Given the description of an element on the screen output the (x, y) to click on. 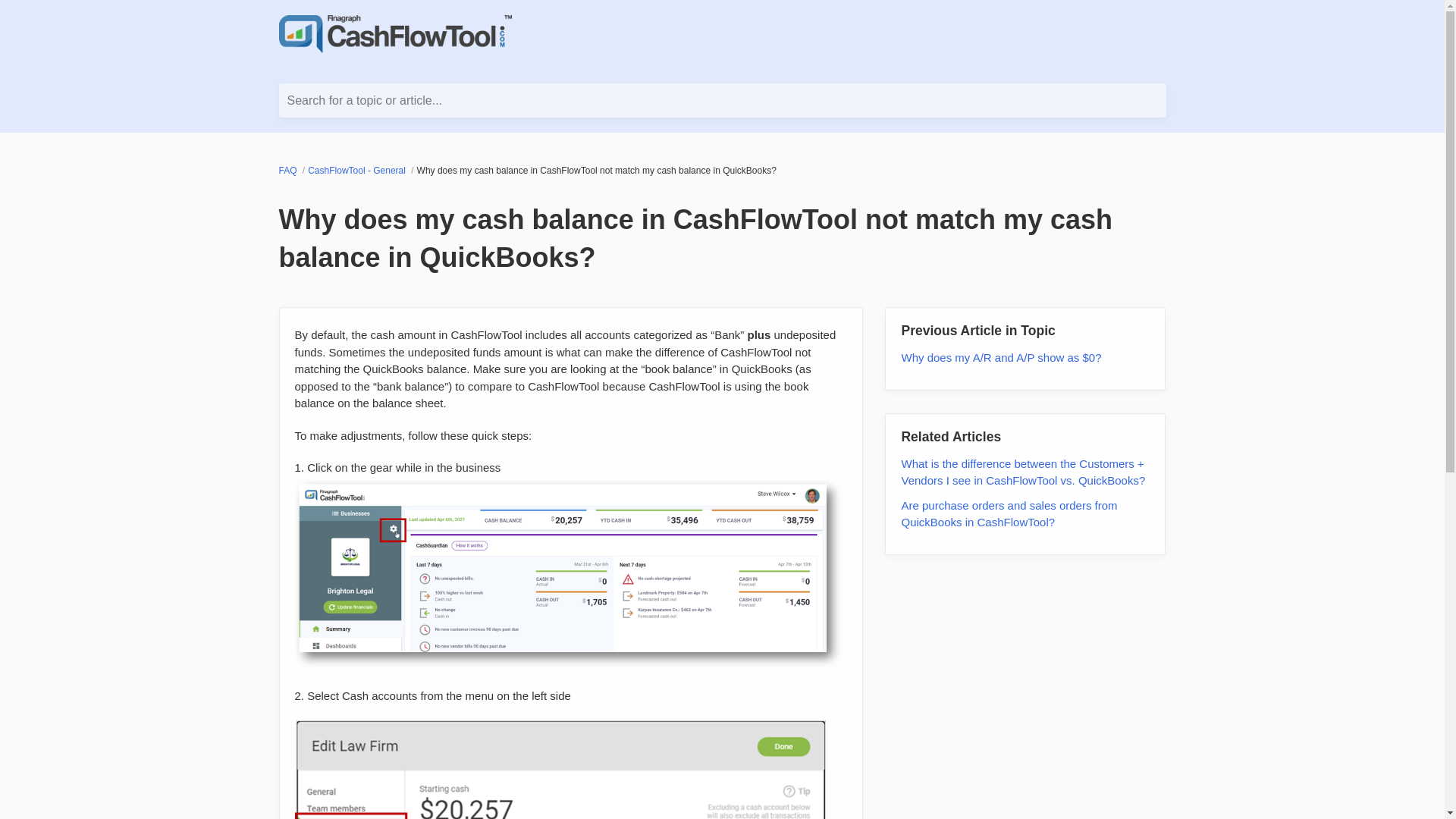
FAQ (289, 170)
CashFlowTool - General (357, 170)
